Given the description of an element on the screen output the (x, y) to click on. 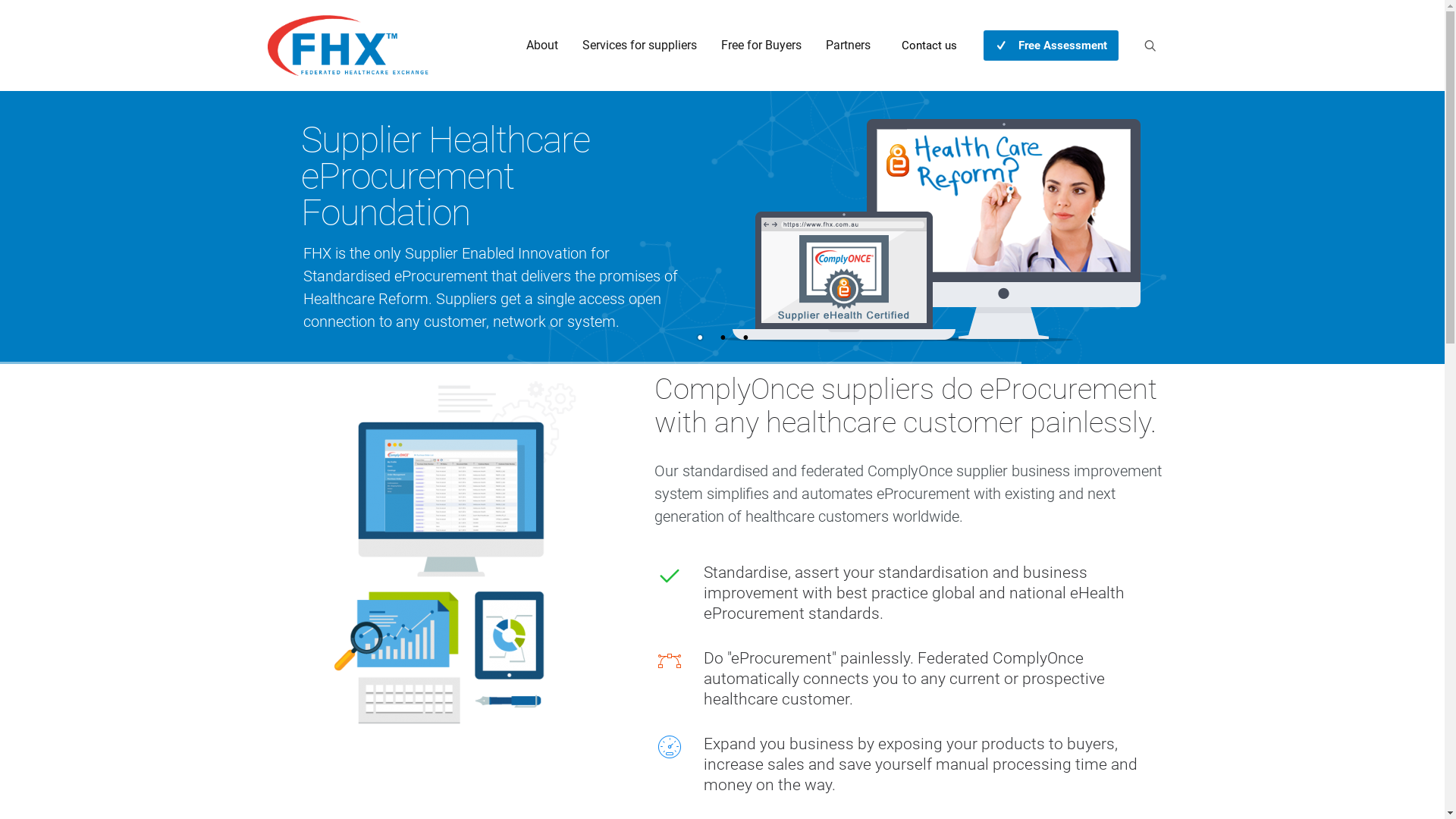
Federated Healthcare Exchange Element type: hover (346, 45)
Free for Buyers Element type: text (760, 45)
Services for suppliers Element type: text (639, 45)
Free Assessment Element type: text (1049, 45)
About Element type: text (542, 45)
Partners Element type: text (846, 45)
Search Element type: text (13, 14)
Contact us Element type: text (929, 45)
